Given the description of an element on the screen output the (x, y) to click on. 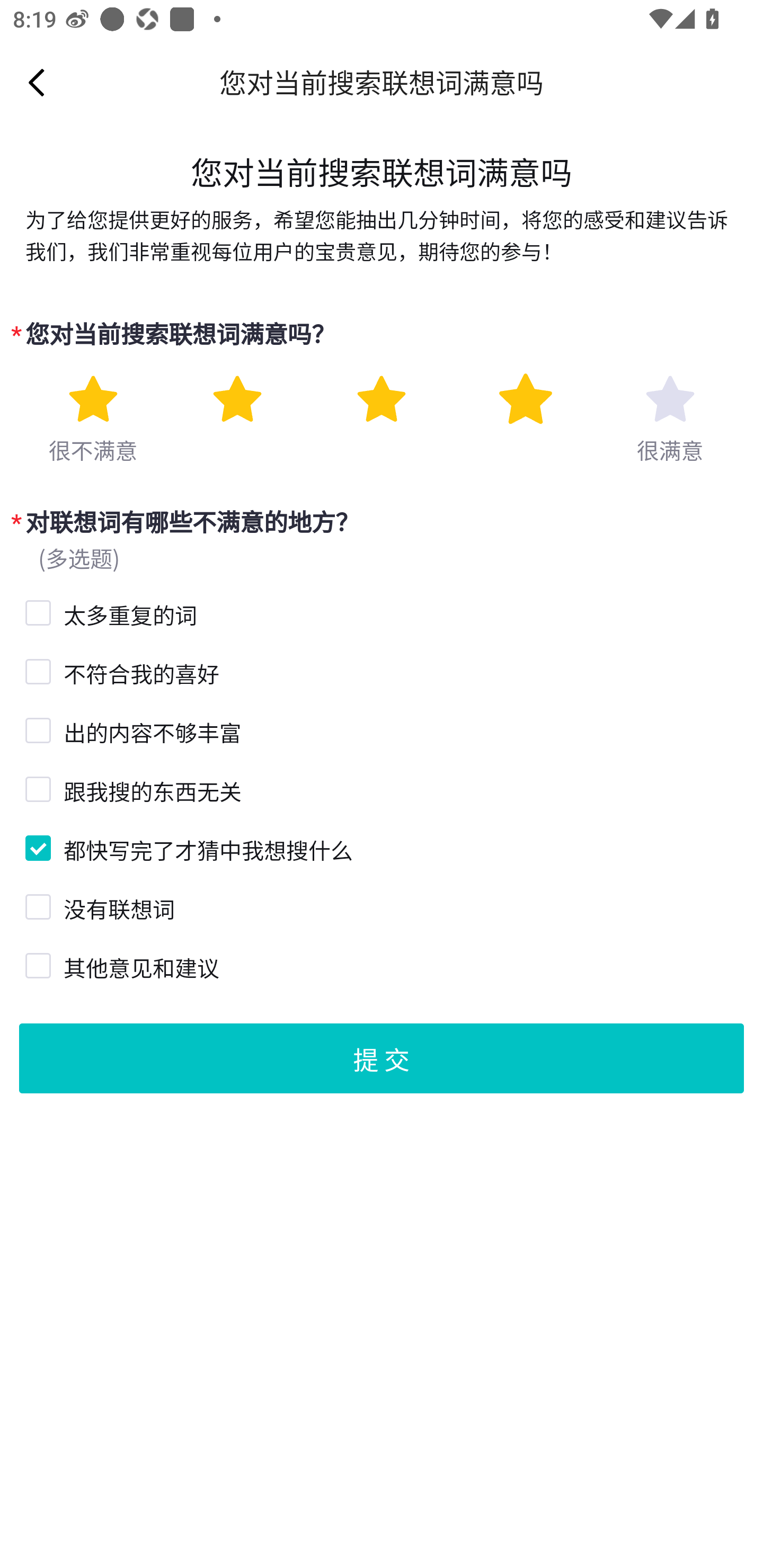
Navigate up (36, 82)
star star (525, 399)
star star (92, 399)
star star (237, 399)
star star (381, 399)
star star (669, 399)
太多重复的词   (36, 610)
不符合我的喜好   (36, 670)
出的内容不够丰富   (36, 728)
跟我搜的东西无关   (36, 787)
都快写完了才猜中我想搜什么   (36, 845)
没有联想词   (36, 905)
其他意见和建议   (36, 963)
提 交 (381, 1057)
